Given the description of an element on the screen output the (x, y) to click on. 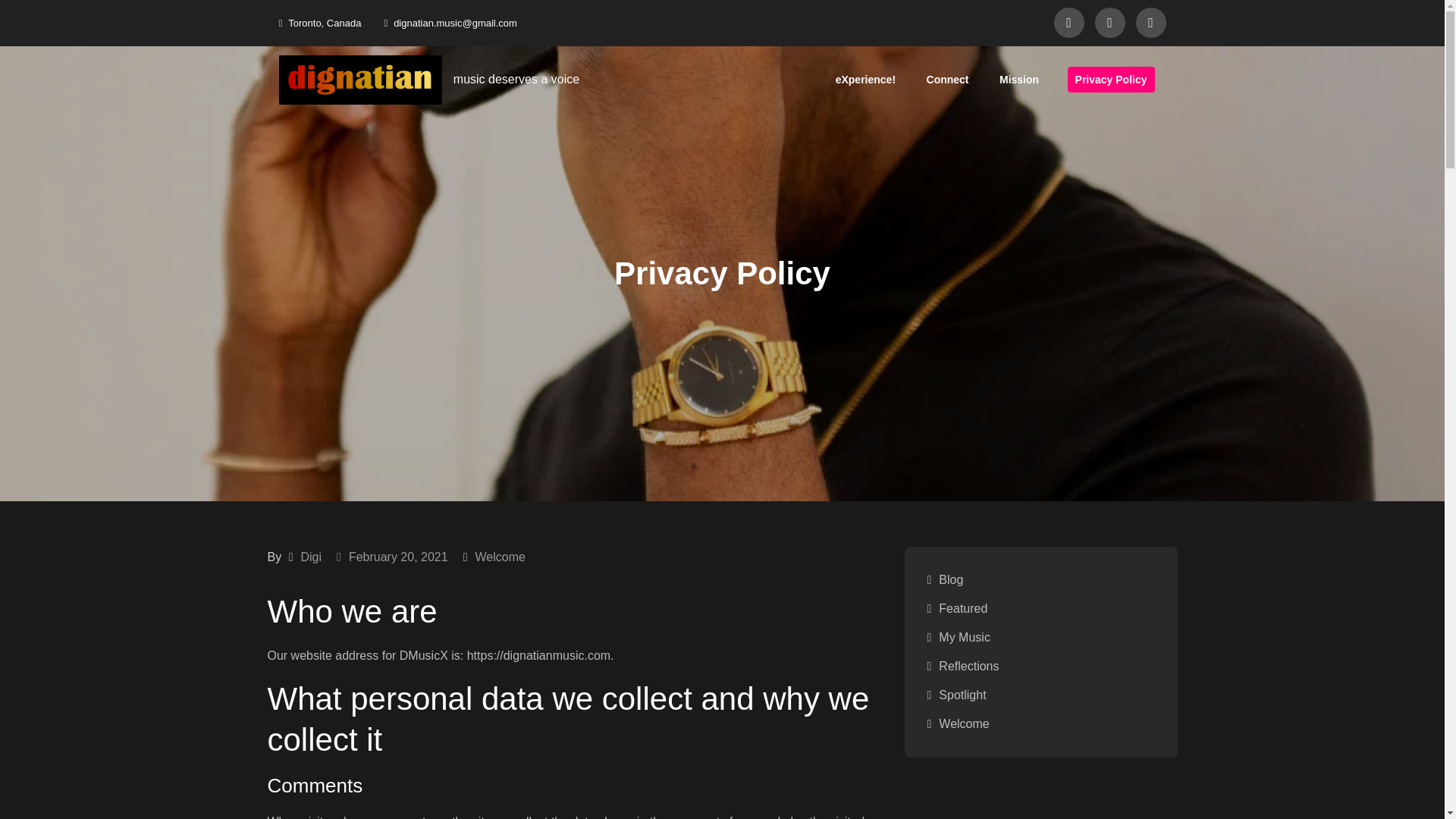
Digi (310, 556)
Privacy Policy (1110, 79)
Reflections (968, 666)
Mission (1018, 79)
February 20, 2021 (392, 556)
My Music (964, 636)
Featured (963, 608)
Connect (947, 79)
eXperience! (865, 79)
Blog (950, 579)
